Given the description of an element on the screen output the (x, y) to click on. 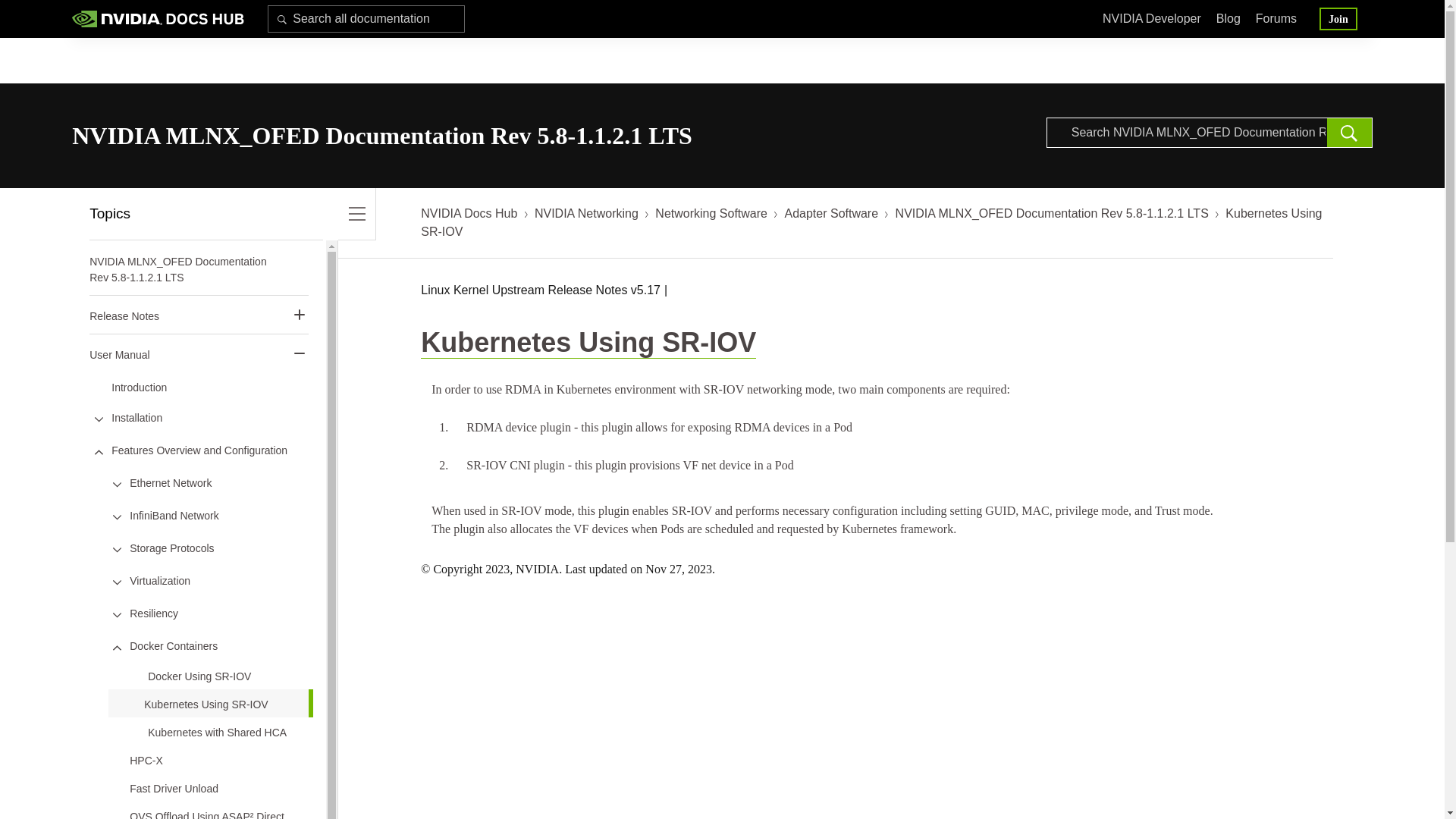
Features Overview and Configuration (199, 450)
Forums (1276, 20)
Join (1337, 18)
Introduction (139, 386)
Submit Search (282, 18)
Installation (136, 417)
Ethernet Network (170, 481)
NVIDIA Docs Hub (468, 213)
Networking Software (711, 213)
Adapter Software (830, 213)
